Given the description of an element on the screen output the (x, y) to click on. 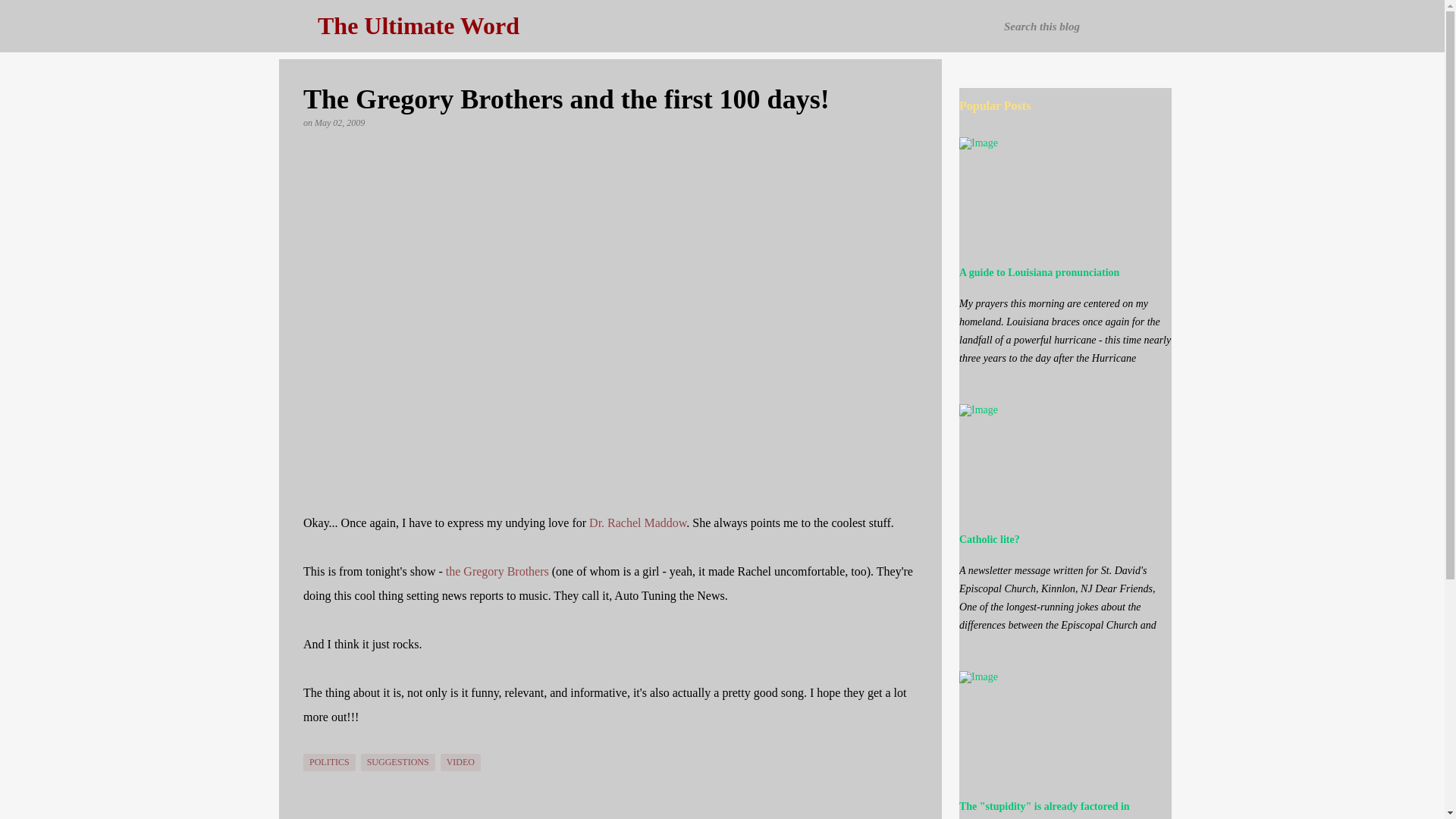
POLITICS (328, 762)
permanent link (339, 122)
Email Post (311, 744)
Catholic lite? (989, 539)
May 02, 2009 (339, 122)
A guide to Louisiana pronunciation (1039, 272)
The Ultimate Word (418, 25)
Dr. Rachel Maddow (637, 522)
The "stupidity" is already factored in (1044, 806)
the Gregory Brothers (496, 571)
SUGGESTIONS (398, 762)
VIDEO (460, 762)
